Given the description of an element on the screen output the (x, y) to click on. 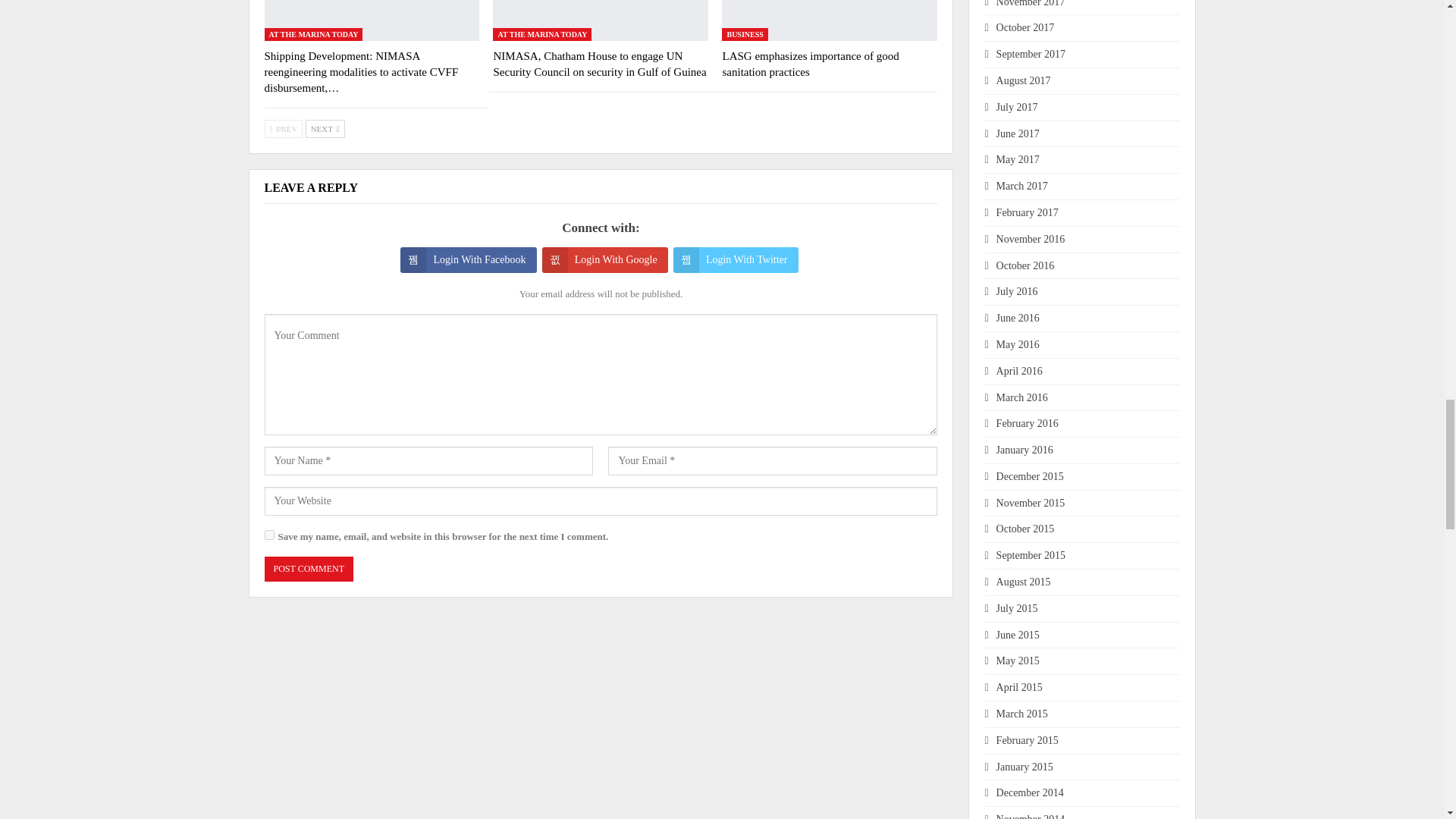
LASG emphasizes importance of good sanitation practices (829, 20)
Next (325, 128)
Post Comment (307, 568)
LASG emphasizes importance of good sanitation practices (810, 63)
yes (268, 534)
Previous (282, 128)
